Given the description of an element on the screen output the (x, y) to click on. 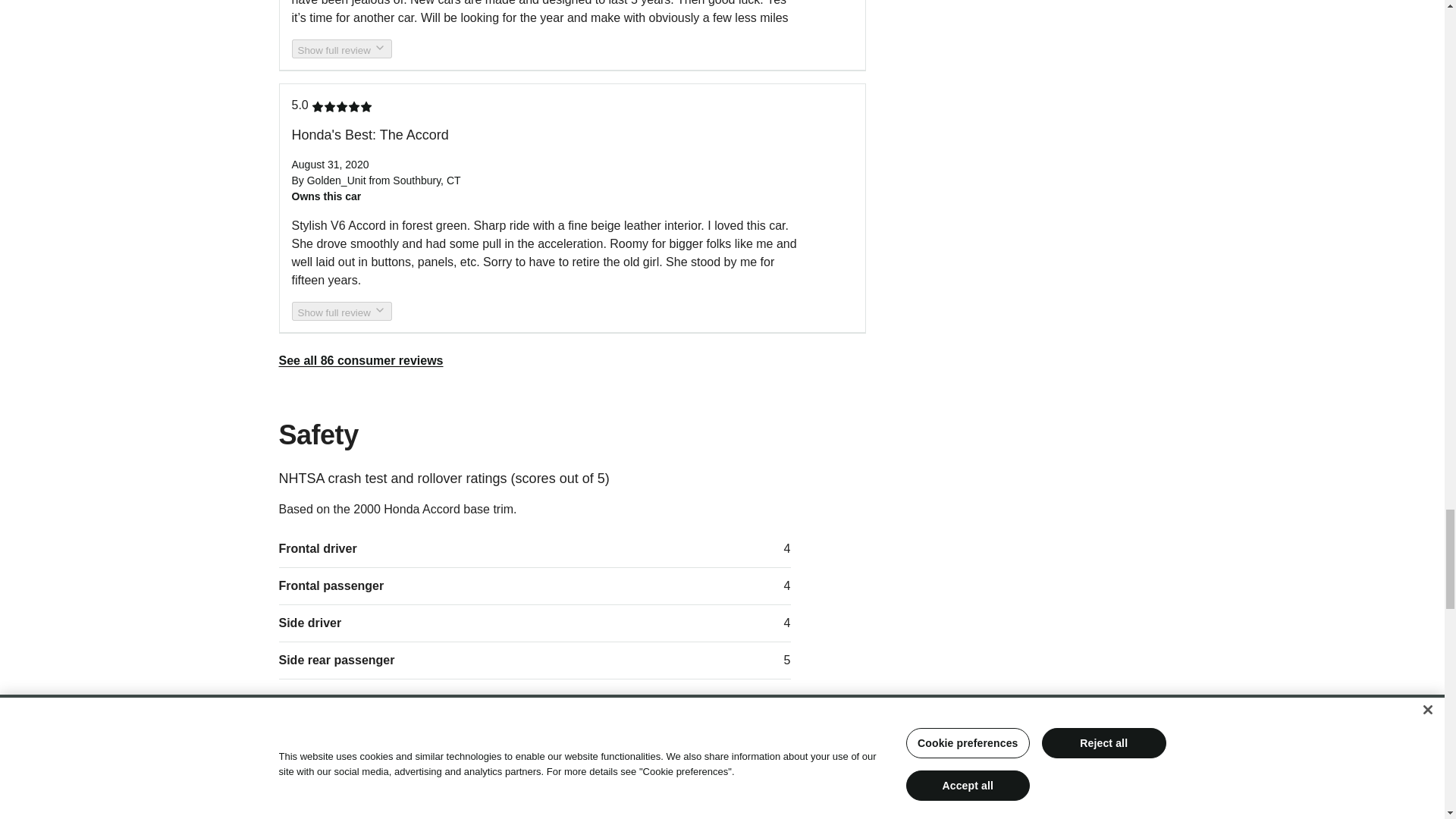
See all 86 consumer reviews (361, 359)
